Given the description of an element on the screen output the (x, y) to click on. 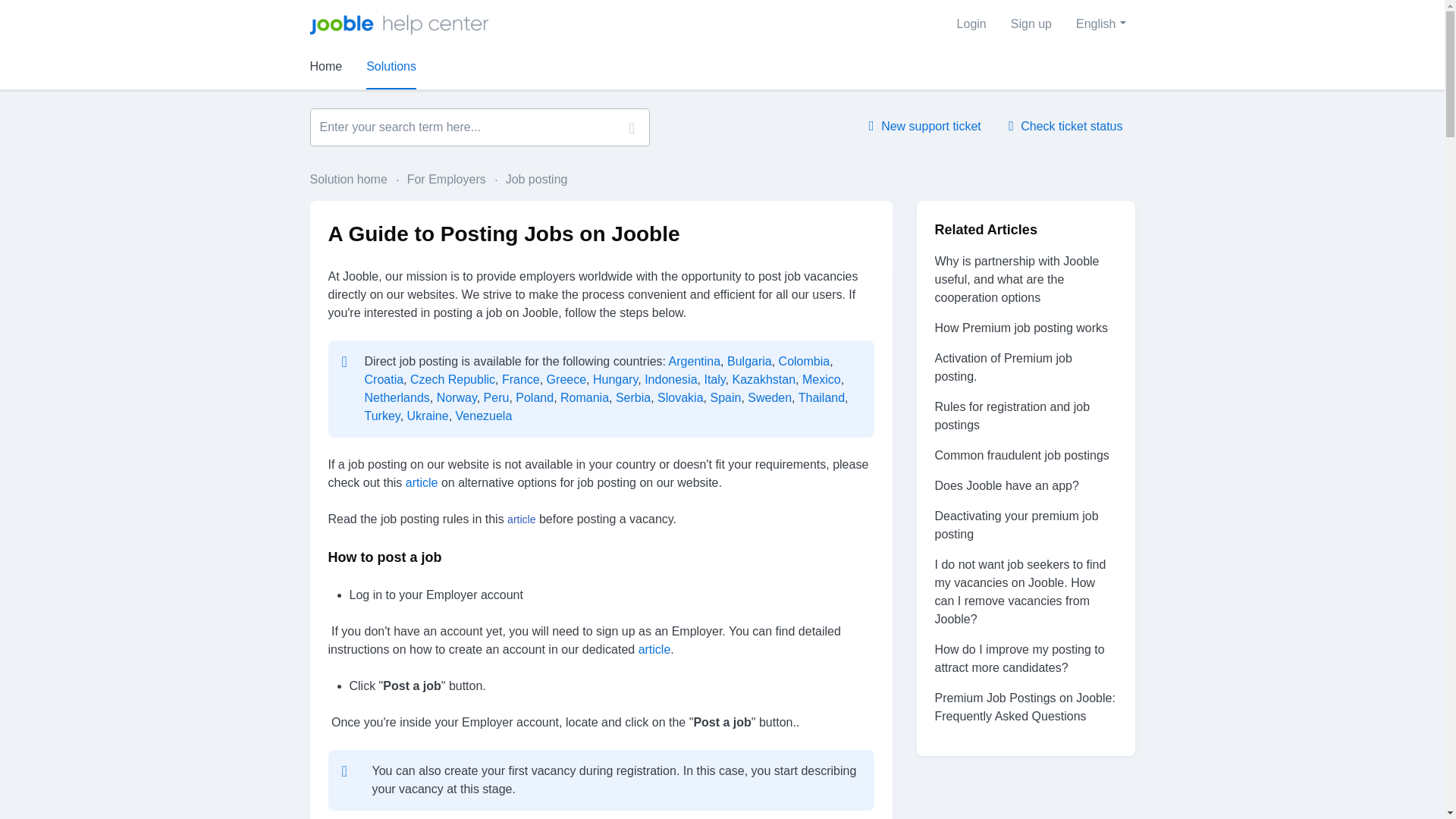
New support ticket (924, 126)
Italy (714, 379)
Poland (534, 397)
Home (325, 66)
Sign up (1031, 23)
Indonesia (671, 379)
Argentina (694, 360)
Mexico (821, 379)
Bulgaria (748, 360)
Help widget launcher (1379, 781)
